Given the description of an element on the screen output the (x, y) to click on. 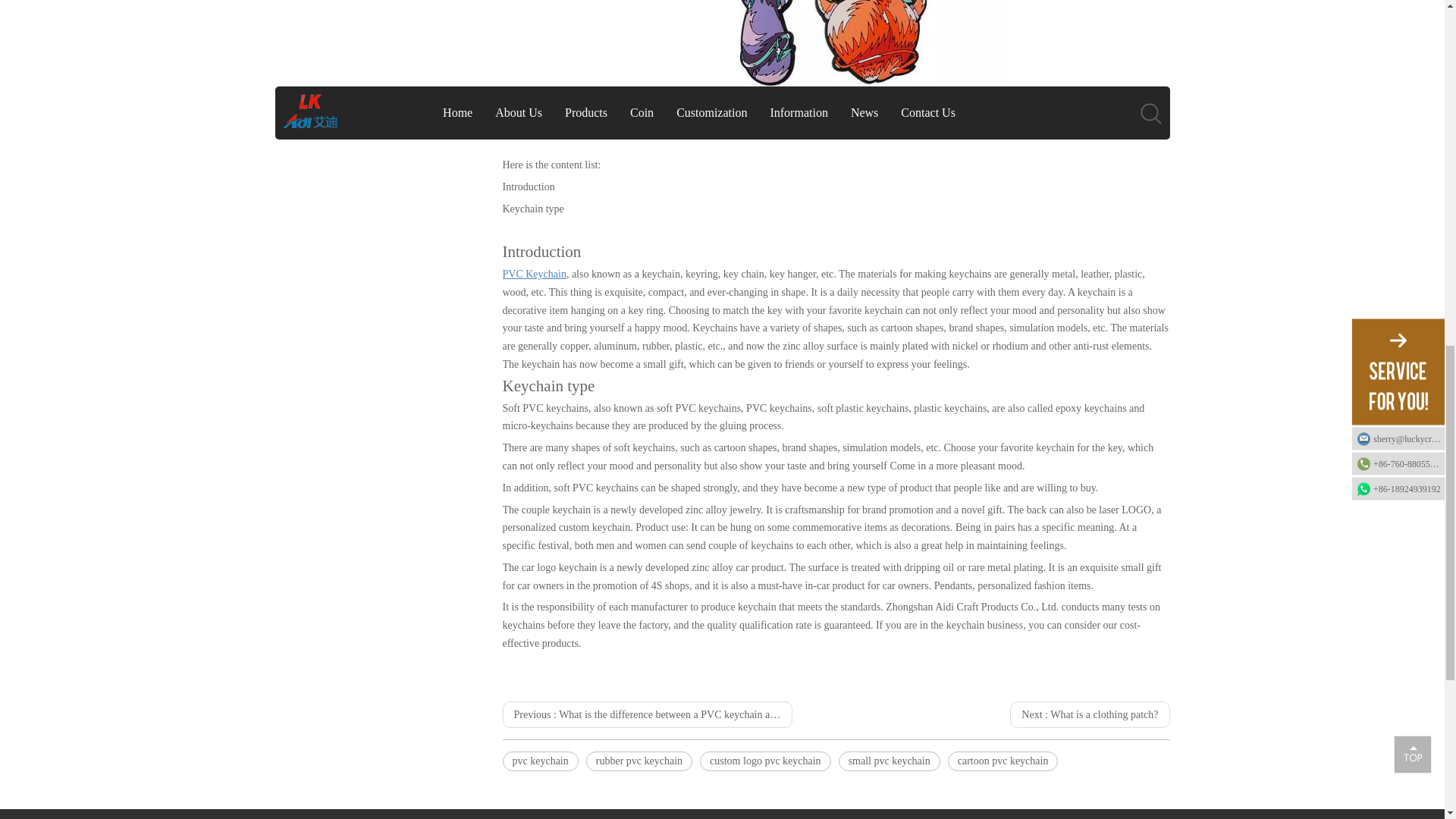
rubber pvc keychain (639, 761)
cartoon pvc keychain (1002, 761)
custom logo pvc keychain (765, 761)
pvc keychain (540, 761)
small pvc keychain (889, 761)
